Given the description of an element on the screen output the (x, y) to click on. 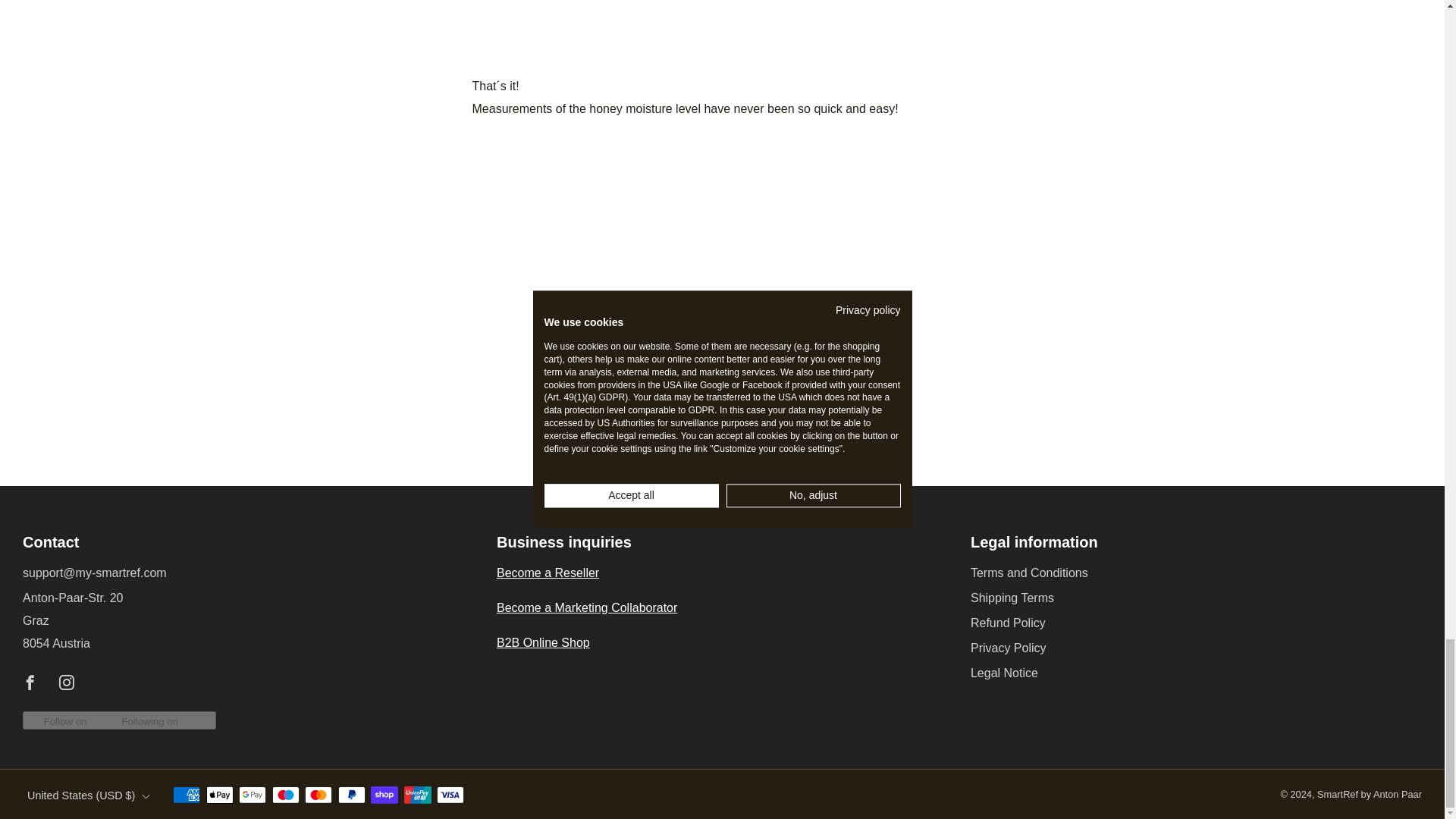
Union Pay (417, 794)
Google Pay (252, 794)
American Express (186, 794)
Maestro (285, 794)
PayPal (351, 794)
Visa (450, 794)
Become an Authorized SmartRef Distributor (547, 572)
Apple Pay (219, 794)
Mastercard (317, 794)
Shop Pay (384, 794)
